Given the description of an element on the screen output the (x, y) to click on. 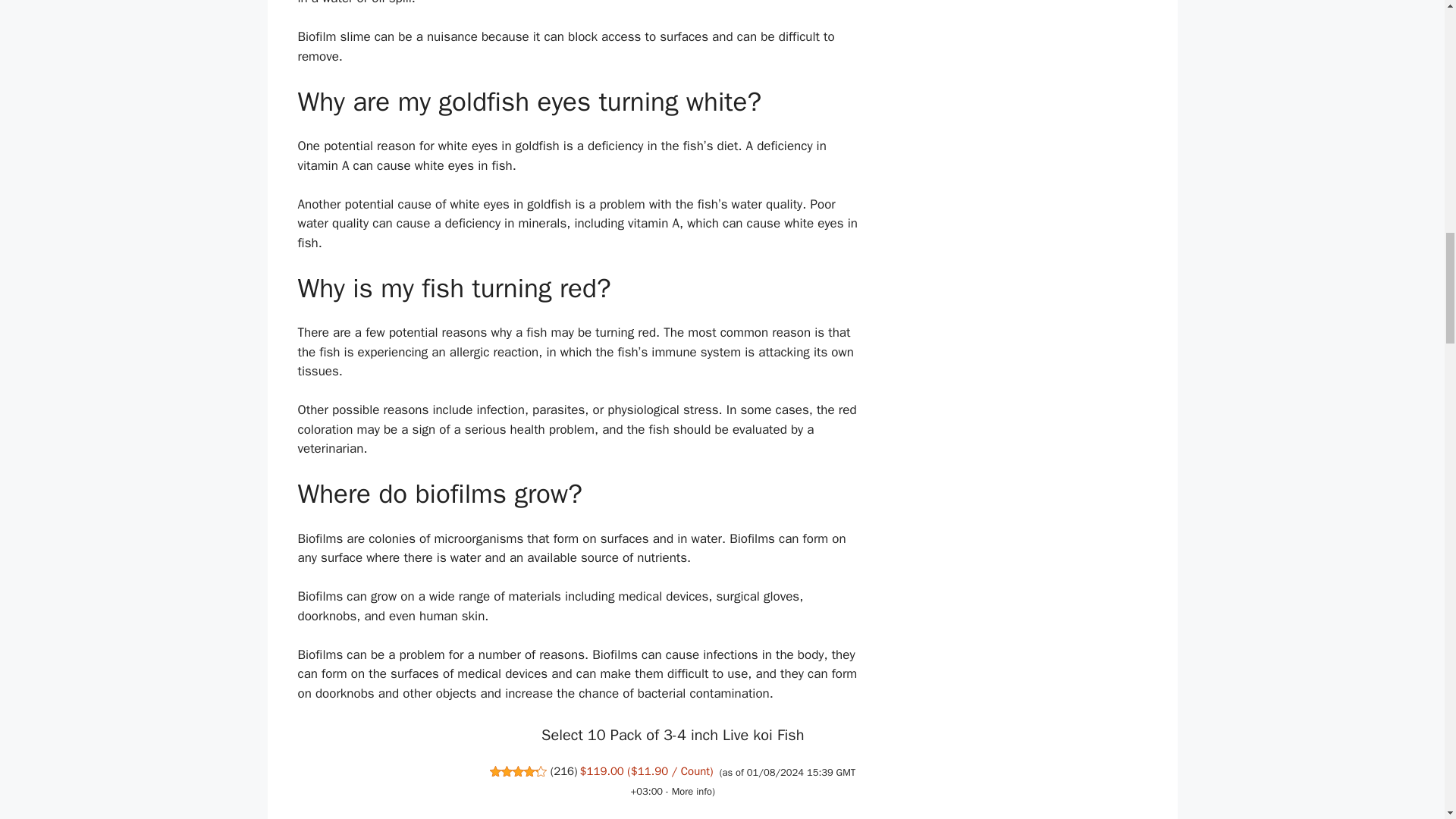
Select 10 Pack of 3-4 inch Live koi Fish (672, 734)
